Given the description of an element on the screen output the (x, y) to click on. 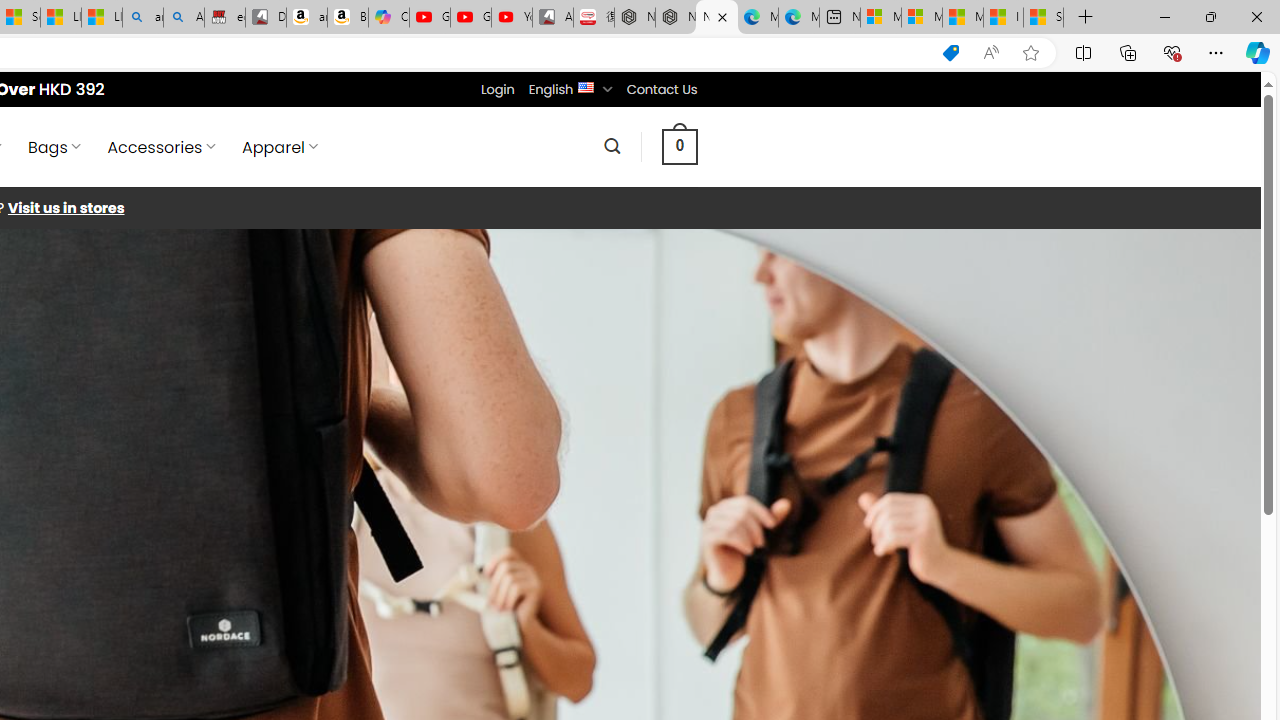
amazon - Search (142, 17)
Nordace Comino Totepack (634, 17)
I Gained 20 Pounds of Muscle in 30 Days! | Watch (1003, 17)
Login (497, 89)
Copilot (388, 17)
  0   (679, 146)
